Given the description of an element on the screen output the (x, y) to click on. 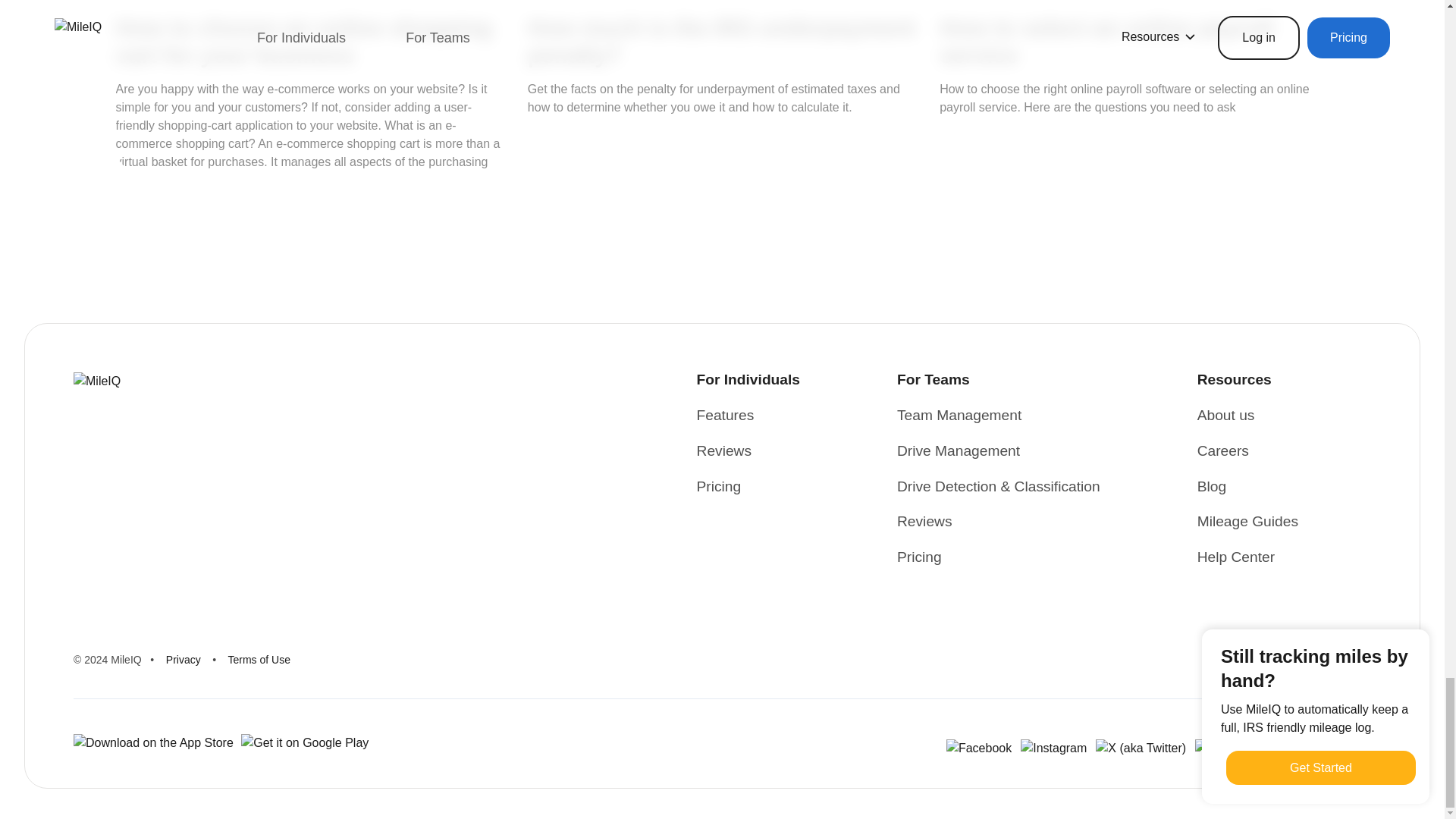
Features (725, 415)
